Given the description of an element on the screen output the (x, y) to click on. 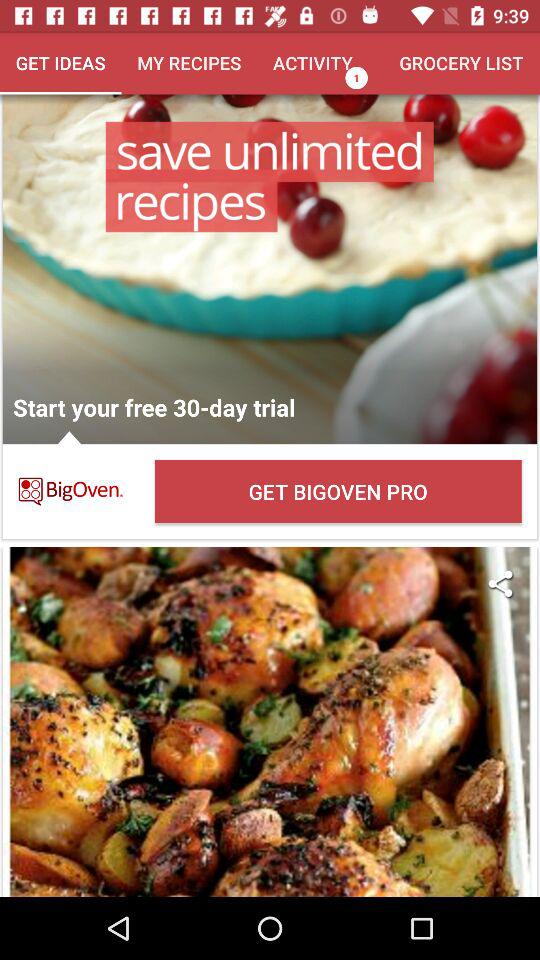
select the recipe (269, 722)
